Given the description of an element on the screen output the (x, y) to click on. 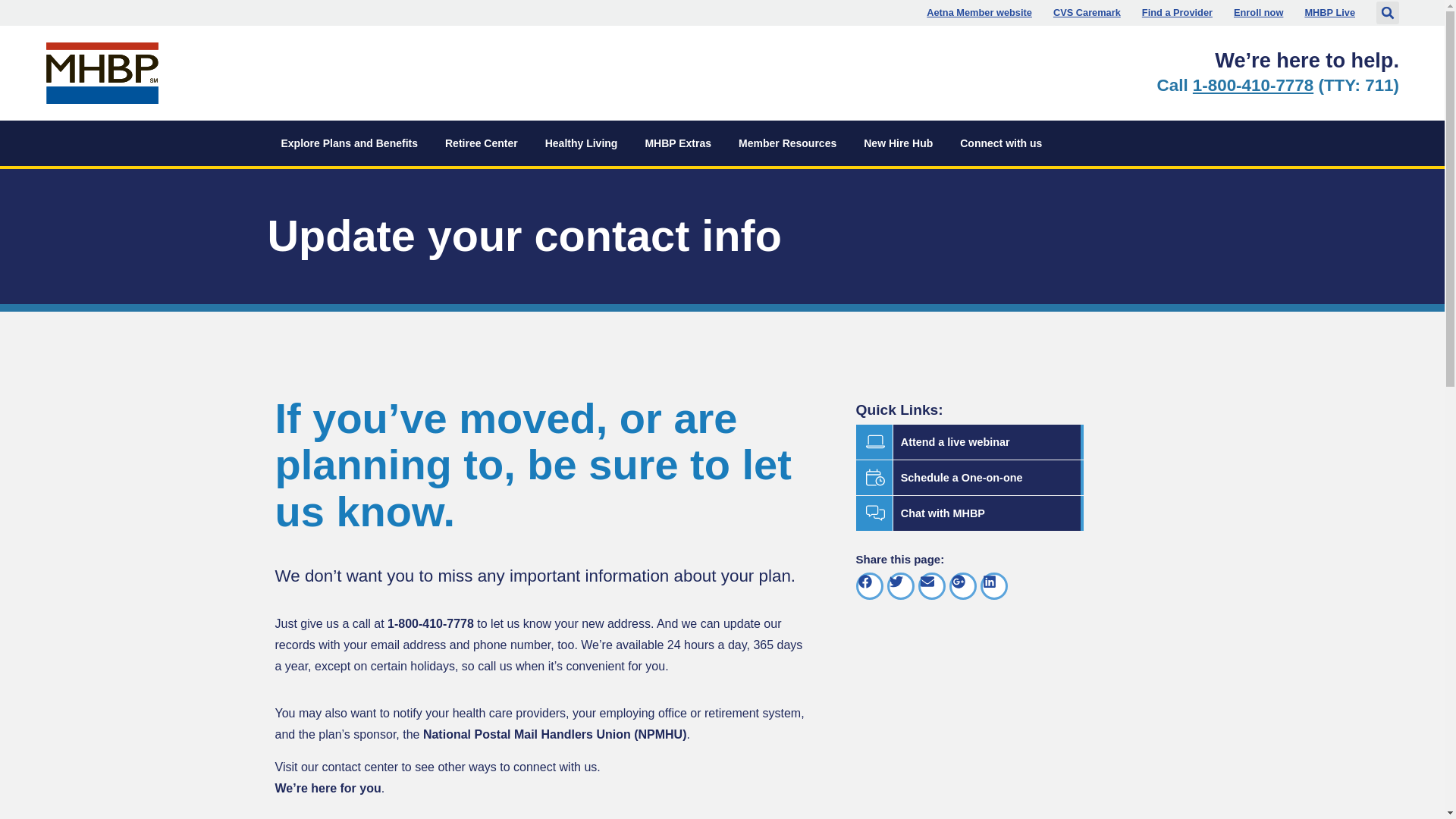
Retiree Center (480, 143)
Enroll now (979, 12)
Explore Plans and Benefits (1086, 12)
Healthy Living (1257, 12)
1-800-410-7778 (348, 143)
Schedule a One-on-one - opens in a new window (581, 143)
MHBP Live (1252, 85)
